Given the description of an element on the screen output the (x, y) to click on. 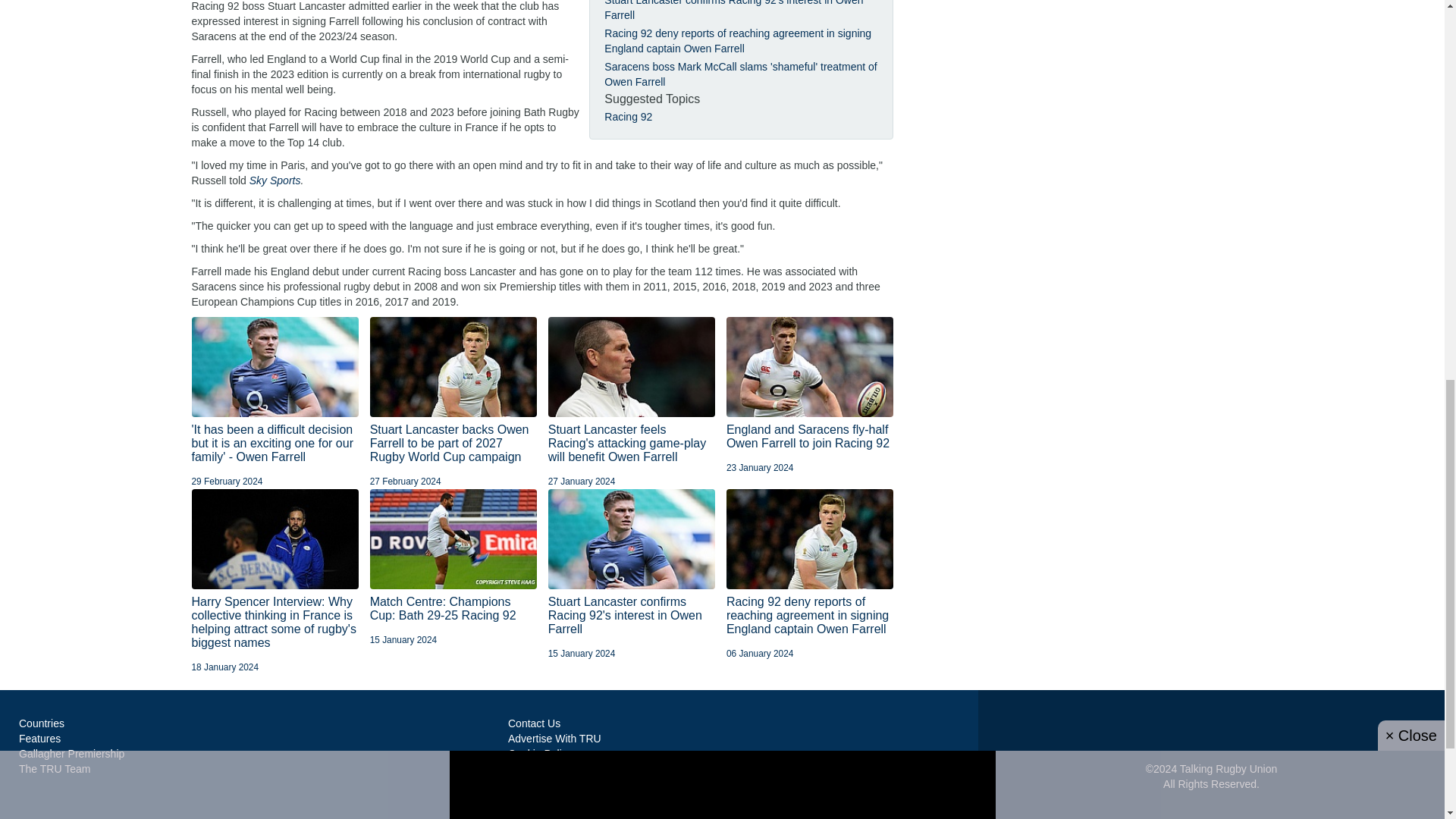
Owen Farrell made his England debut under Stuart Lancaster (632, 366)
Owen Farrell has signed a two year deal with Racing 92 (453, 366)
Joe Cokanasiga was one of the try scorer for Bath Rugby (453, 538)
